Given the description of an element on the screen output the (x, y) to click on. 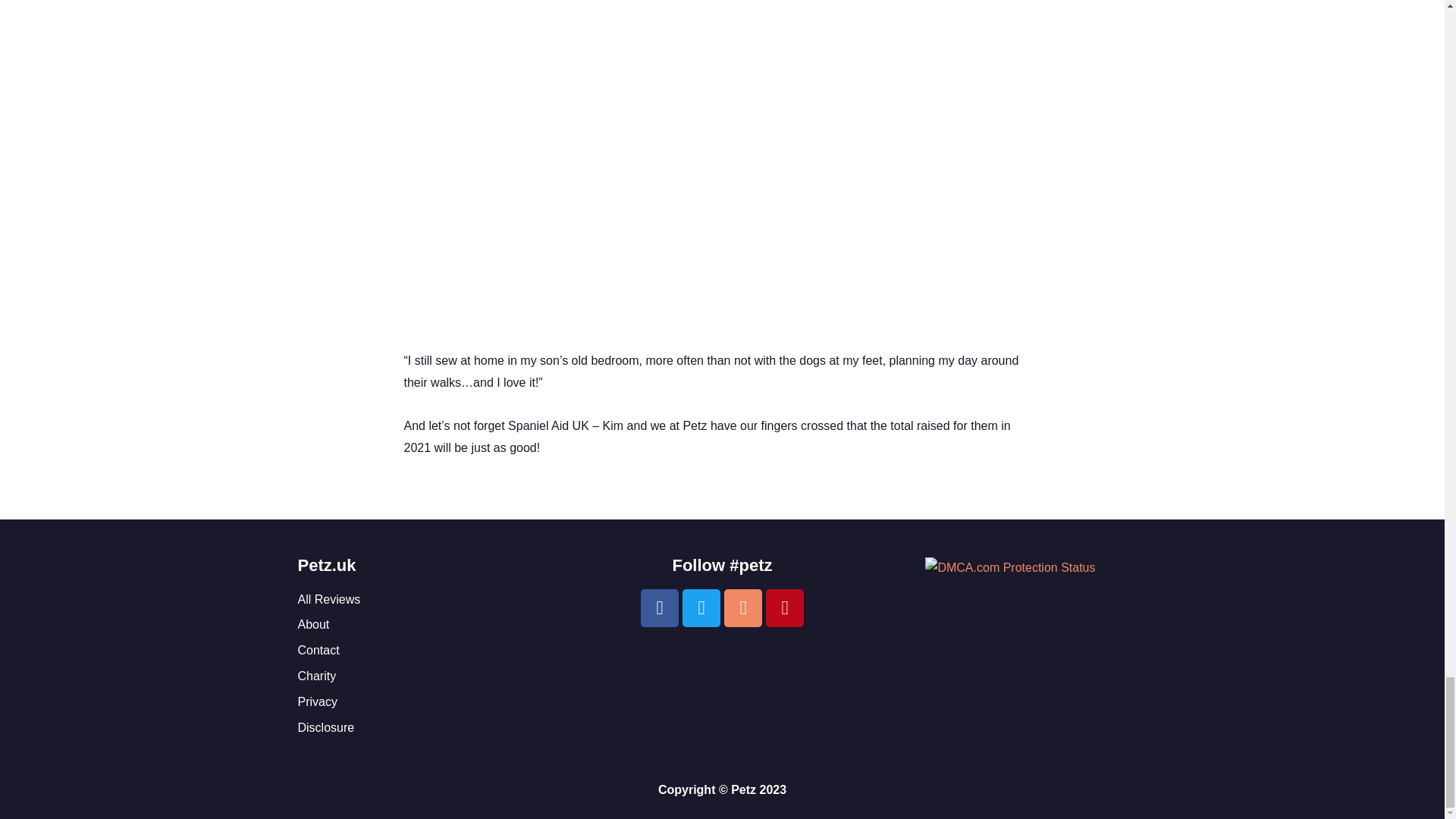
All Reviews (433, 599)
About (433, 625)
Charity (433, 676)
DMCA.com Protection Status (1009, 567)
Contact (433, 650)
Disclosure (433, 728)
Privacy (433, 702)
